Given the description of an element on the screen output the (x, y) to click on. 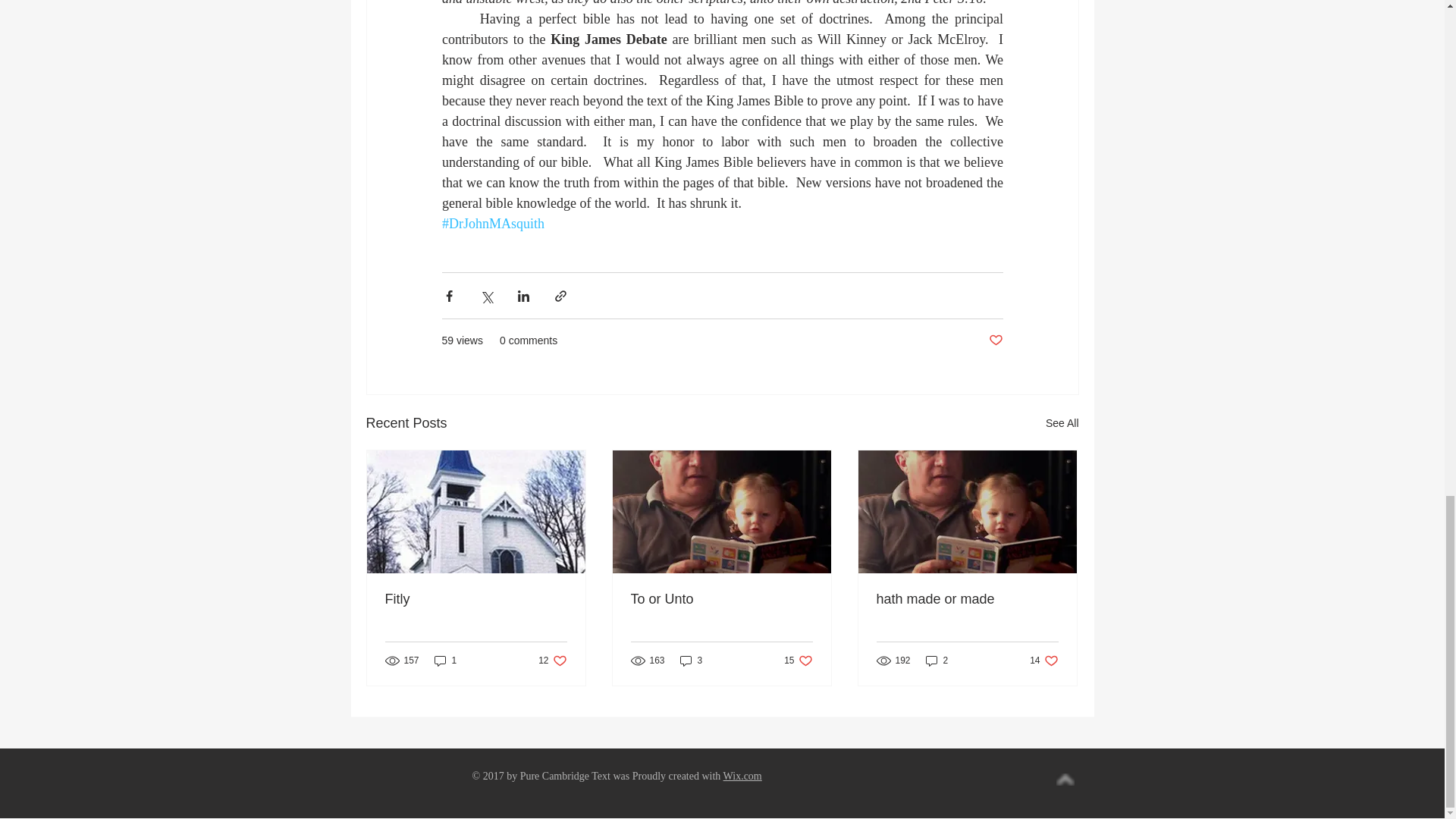
2 (937, 660)
hath made or made (967, 599)
1 (445, 660)
See All (552, 660)
To or Unto (1061, 423)
Fitly (721, 599)
Post not marked as liked (798, 660)
3 (476, 599)
